Given the description of an element on the screen output the (x, y) to click on. 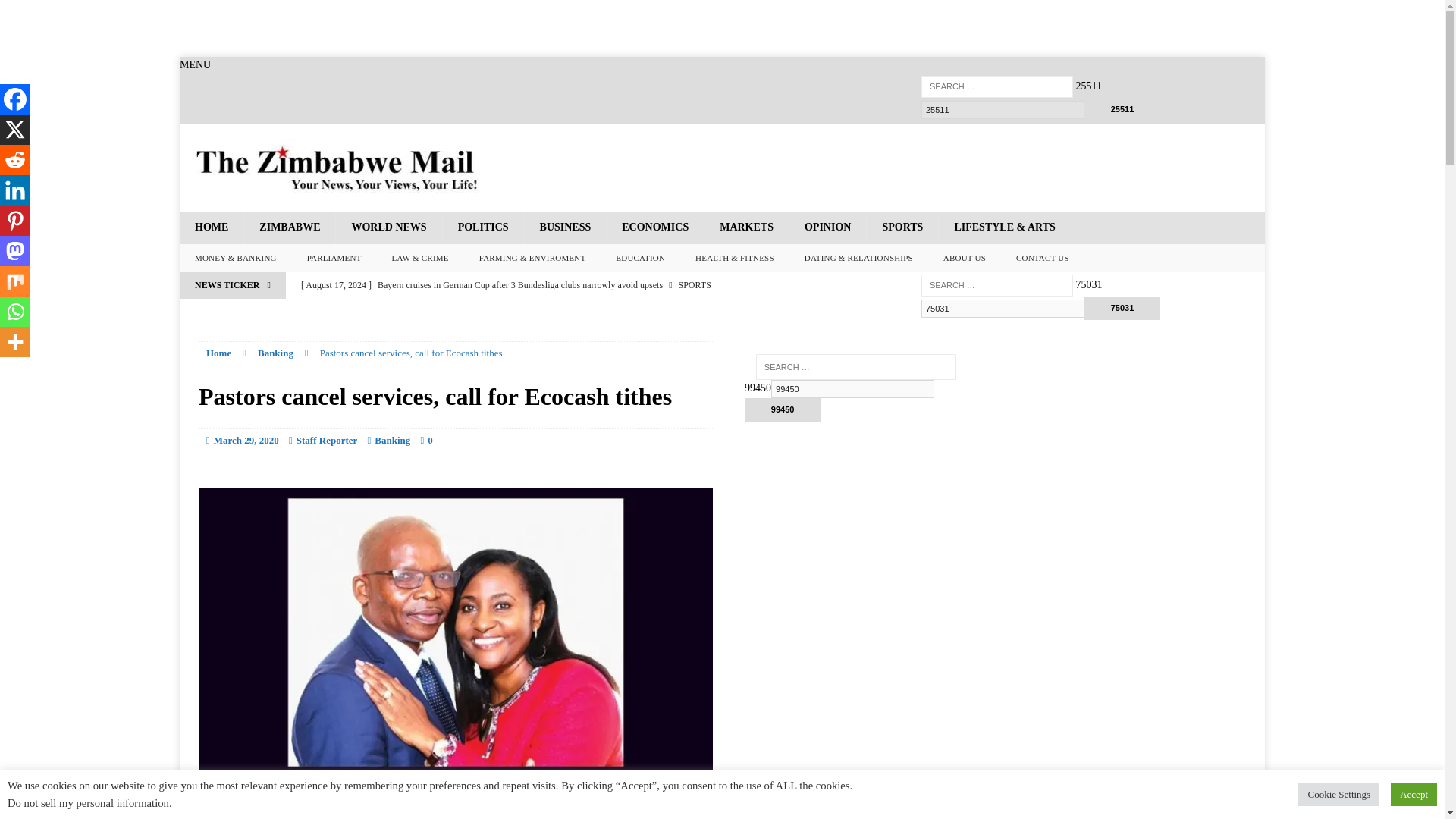
99450 (782, 409)
25511 (1002, 109)
ABOUT US (964, 258)
BUSINESS (565, 227)
SPORTS (901, 227)
Search (37, 11)
99450 (782, 409)
75031 (1122, 308)
25511 (1002, 109)
